Given the description of an element on the screen output the (x, y) to click on. 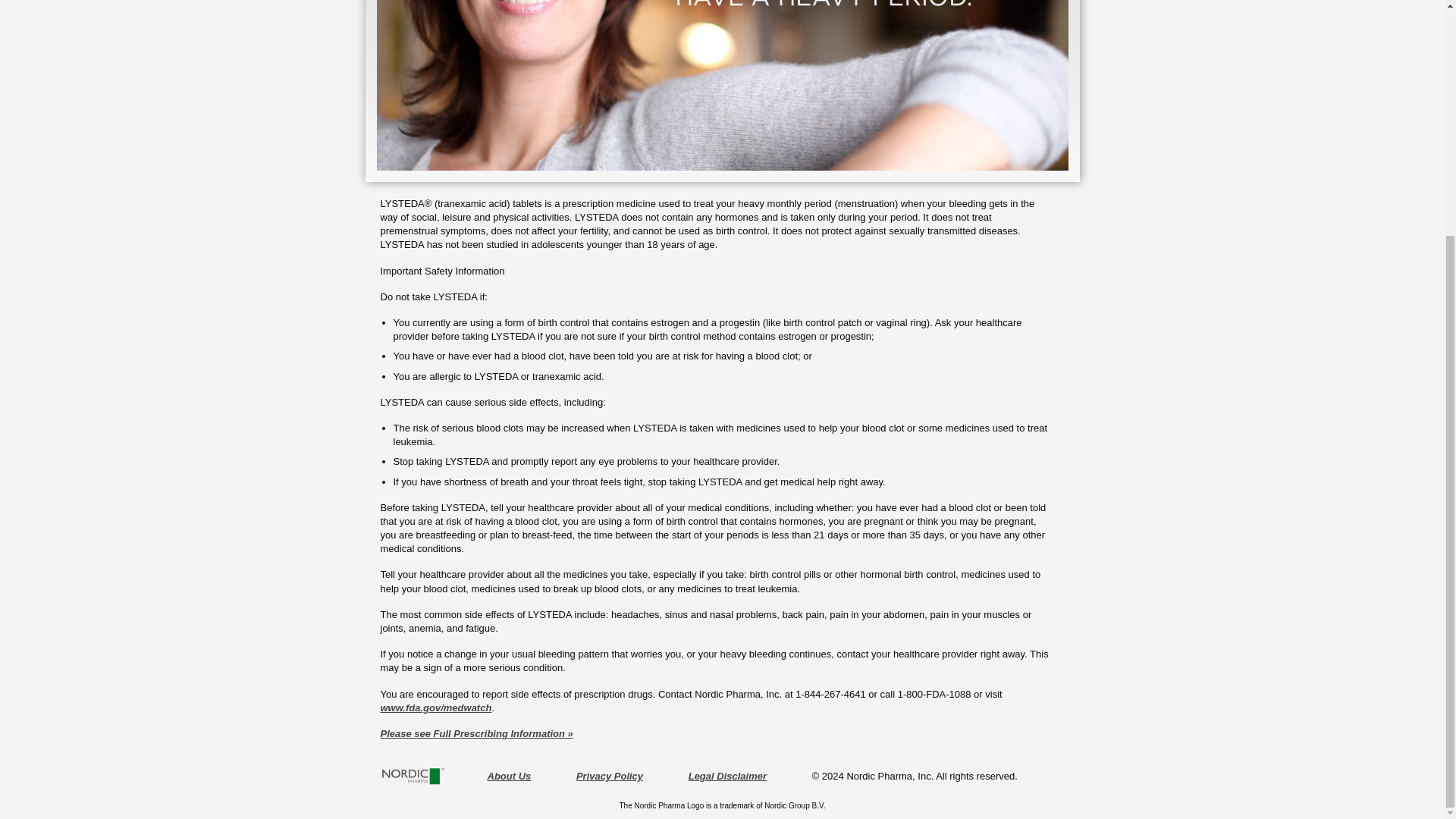
Privacy Policy (609, 776)
About Us (508, 776)
Legal Disclaimer (727, 776)
